Given the description of an element on the screen output the (x, y) to click on. 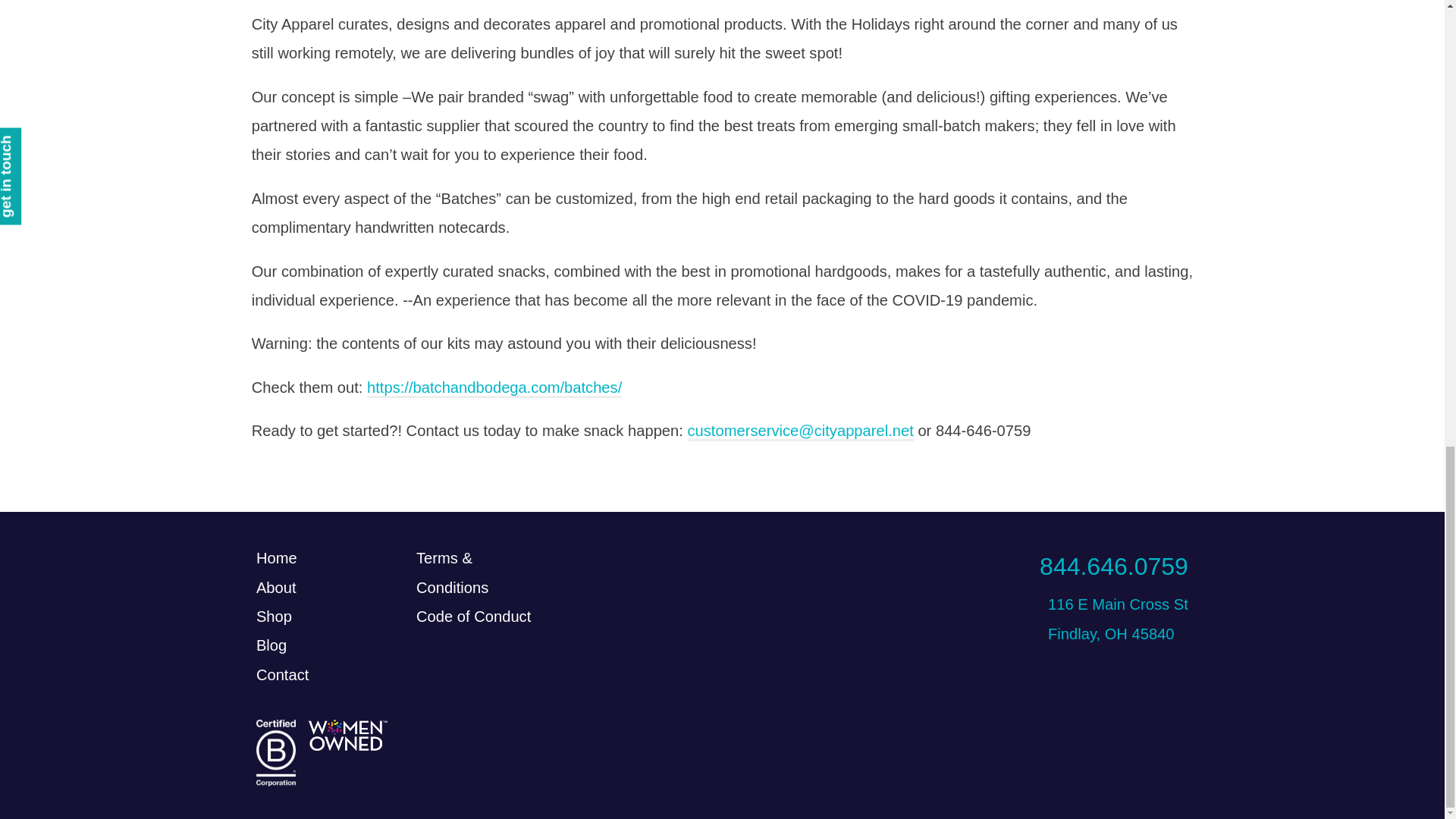
About (276, 587)
Code of Conduct (473, 616)
Home (276, 557)
Contact (282, 674)
Blog (271, 645)
Shop (274, 616)
